Given the description of an element on the screen output the (x, y) to click on. 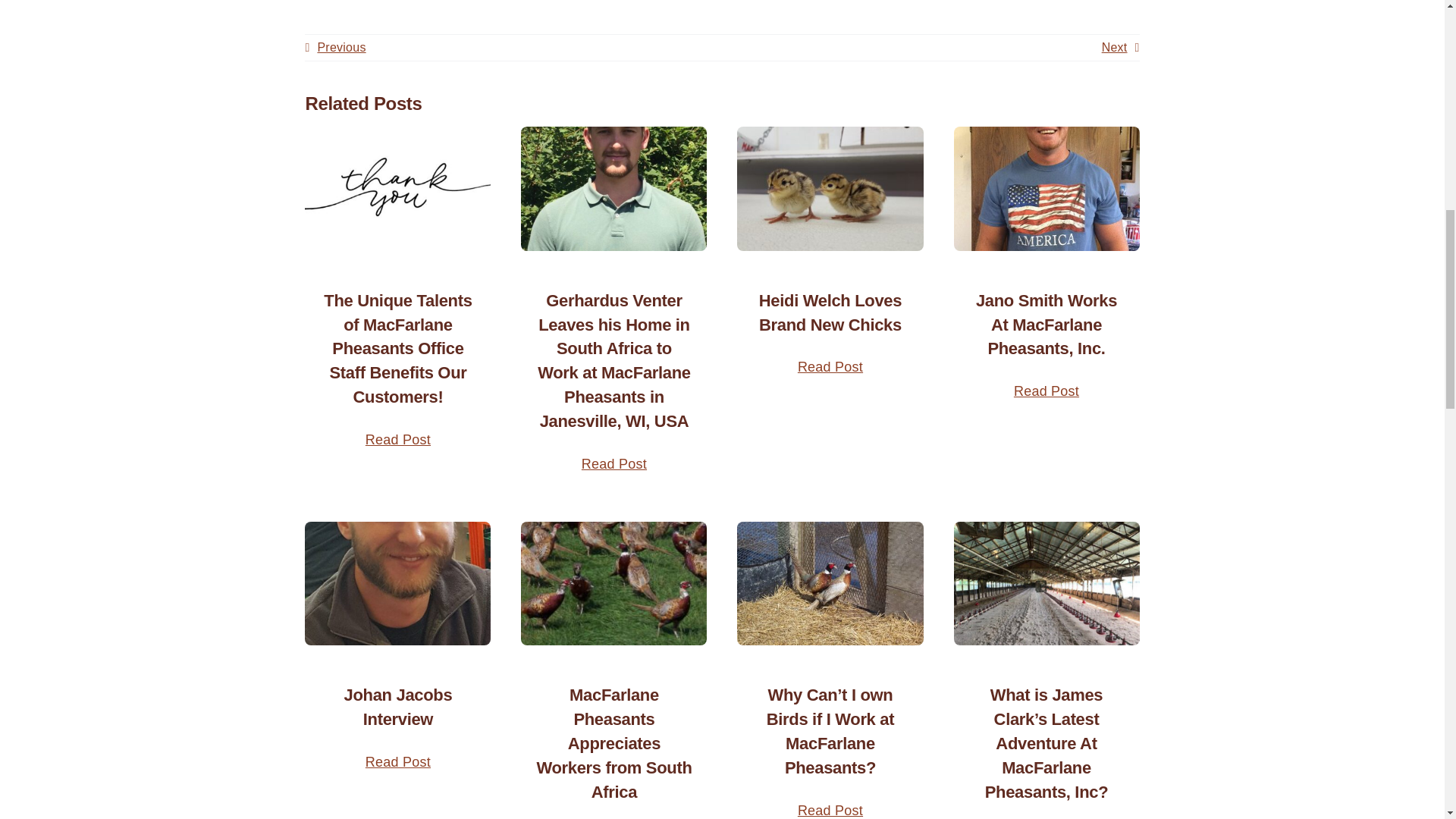
Reasons Why Buyers Prefer MacFarlane Pheasants (829, 583)
Successful Introduction of Pheasants to a New Property (613, 583)
thanks (397, 188)
Spring Time is Hatching Time on the Farm (829, 188)
Johan Jacobs Interview (397, 583)
Gerhardus Martinus Venter (613, 188)
Jano Smith Works At MacFarlane Pheasants, Inc. (1046, 188)
